Given the description of an element on the screen output the (x, y) to click on. 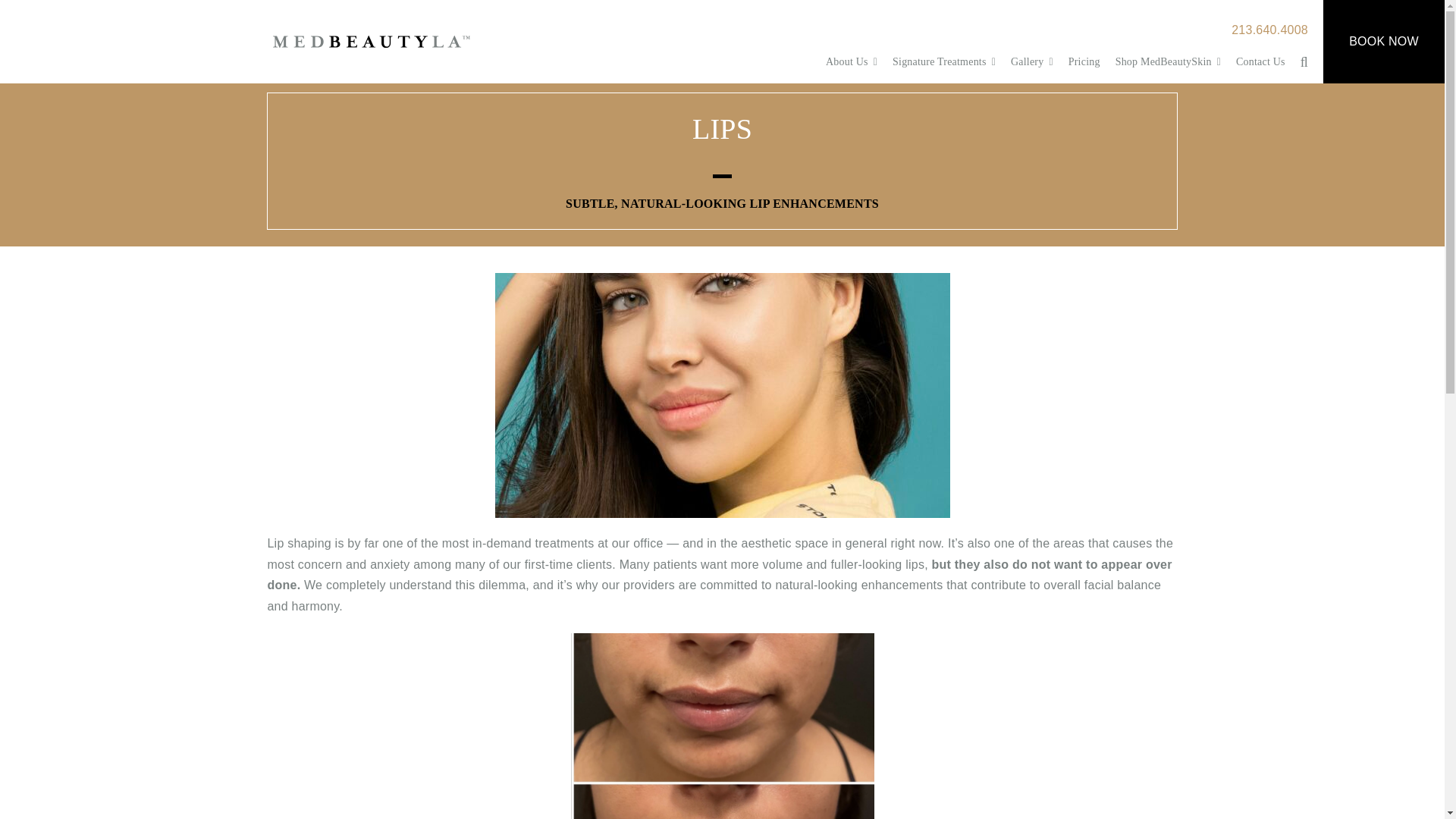
lip-filler-downtown-los-angeles-copy-1012x1024 (721, 726)
Signature Treatments (943, 61)
213.640.4008 (1269, 29)
About Us (851, 61)
